Given the description of an element on the screen output the (x, y) to click on. 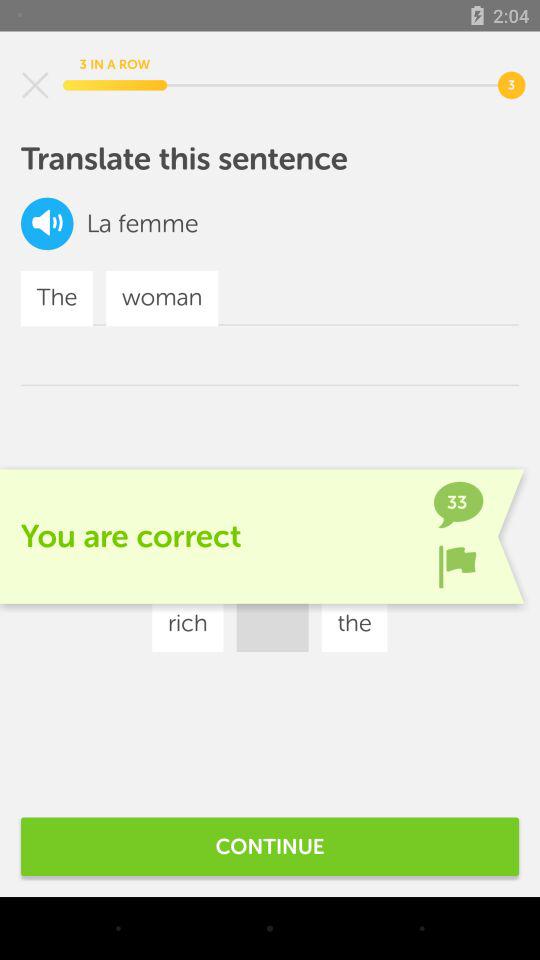
turn off the item below the translate this sentence icon (375, 563)
